Given the description of an element on the screen output the (x, y) to click on. 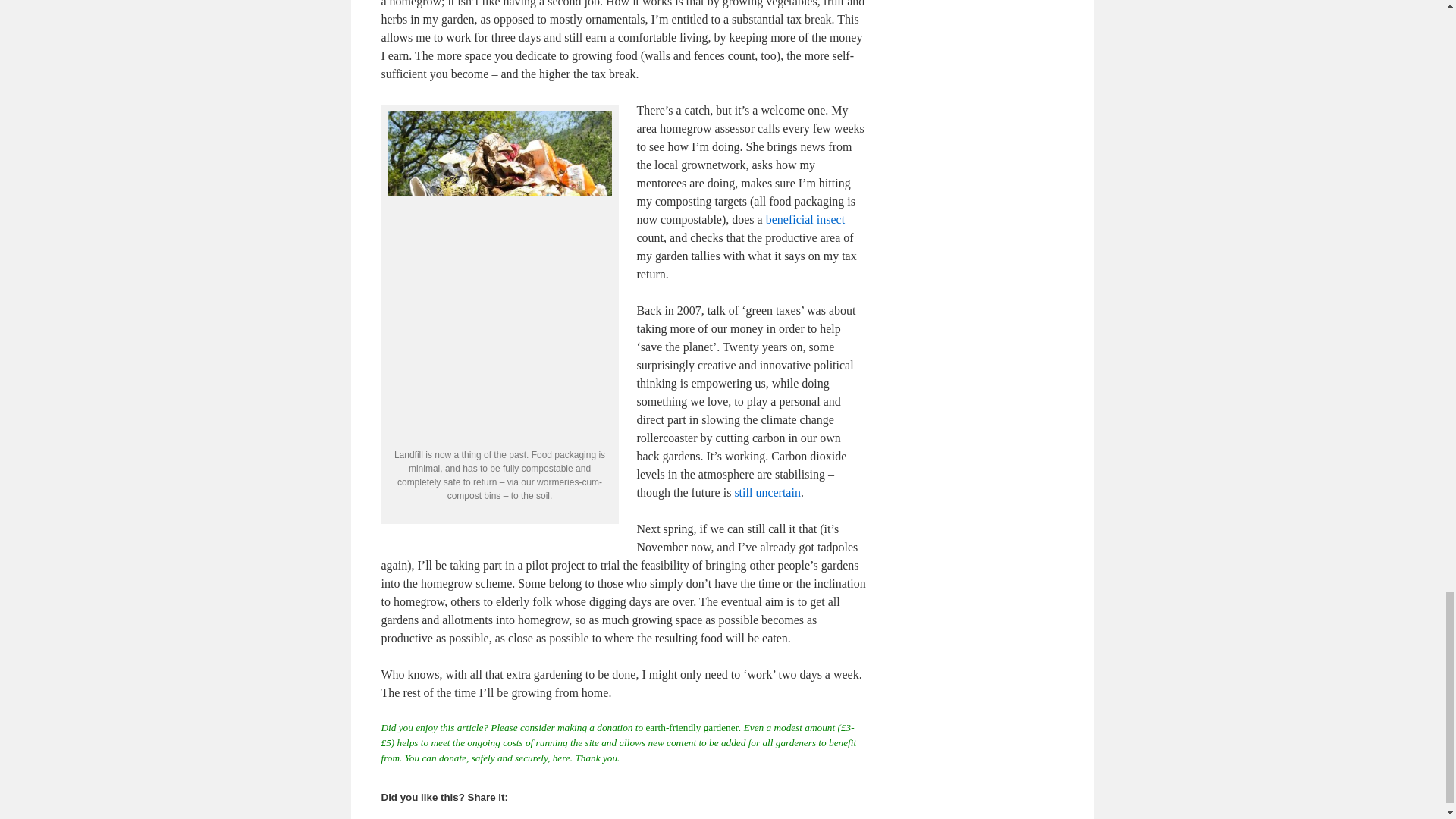
here (561, 757)
beneficial insect (804, 219)
still uncertain (766, 492)
donation (613, 727)
